Given the description of an element on the screen output the (x, y) to click on. 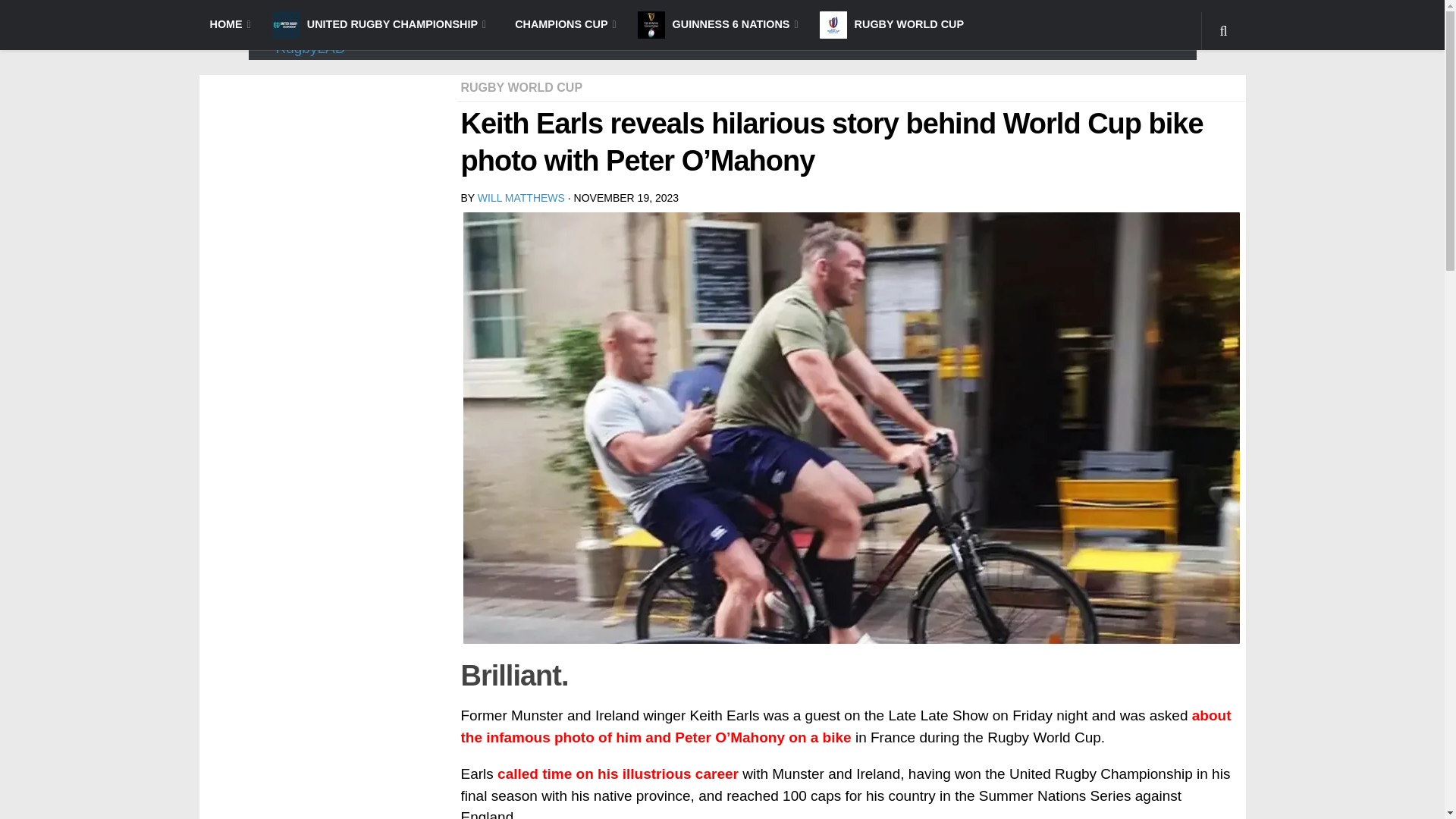
Posts by Will Matthews (520, 197)
HOME (229, 23)
RUGBY WORLD CUP (522, 86)
GUINNESS 6 NATIONS (718, 24)
RUGBY WORLD CUP (891, 24)
WILL MATTHEWS (520, 197)
CHAMPIONS CUP (561, 23)
UNITED RUGBY CHAMPIONSHIP (379, 24)
called time on his illustrious career (617, 773)
